Given the description of an element on the screen output the (x, y) to click on. 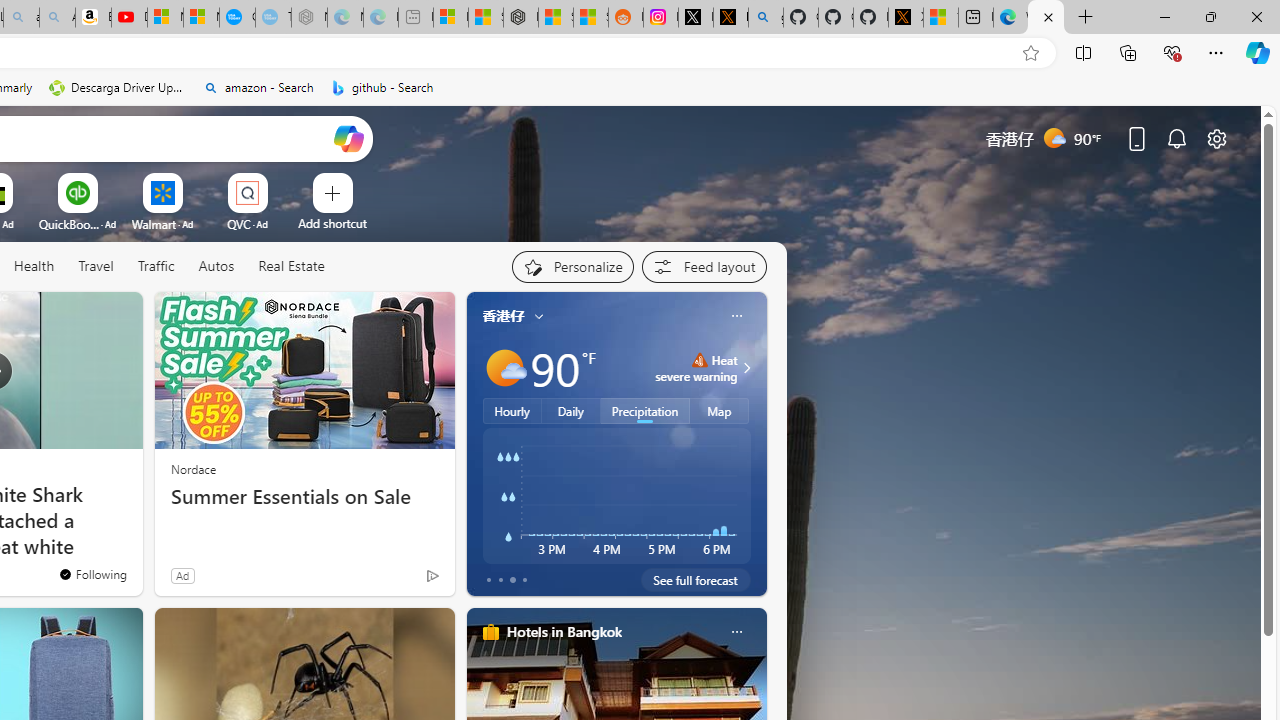
Nordace - Nordace has arrived Hong Kong - Sleeping (308, 17)
Class: icon-img (736, 632)
Nordace - Duffels (520, 17)
github - Search (381, 88)
Click to see more information (744, 367)
See full forecast (695, 579)
Welcome to Microsoft Edge (1010, 17)
More options (736, 631)
Traffic (155, 265)
